Given the description of an element on the screen output the (x, y) to click on. 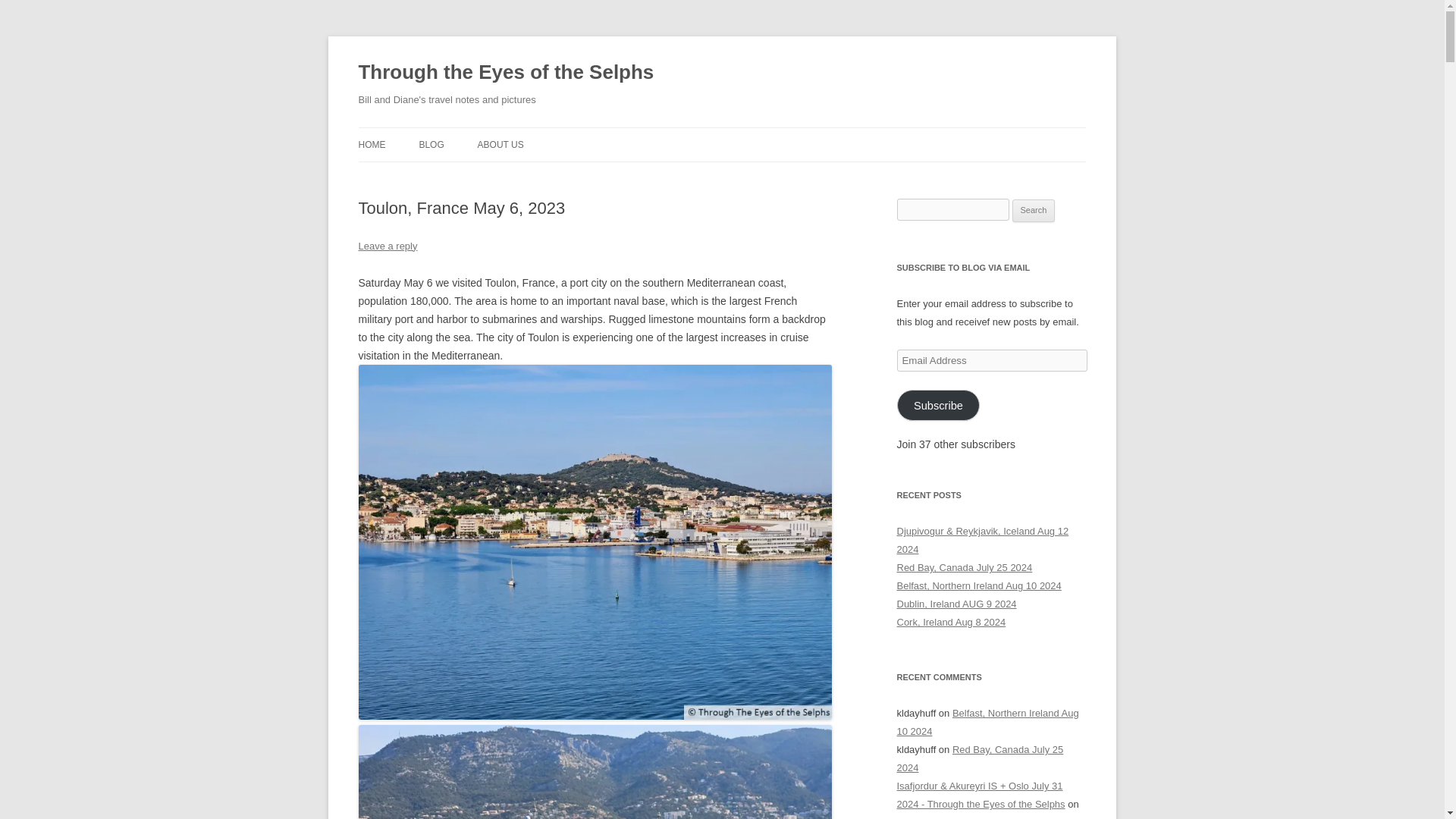
Belfast, Northern Ireland Aug 10 2024 (978, 585)
Belfast, Northern Ireland Aug 10 2024 (987, 722)
Search (1033, 210)
Red Bay, Canada July 25 2024 (964, 567)
Search (1033, 210)
Red Bay, Canada July 25 2024 (979, 758)
Isafjordur, Iceland JUN 8, 2023 (963, 817)
Through the Eyes of the Selphs (505, 72)
Leave a reply (387, 245)
